Given the description of an element on the screen output the (x, y) to click on. 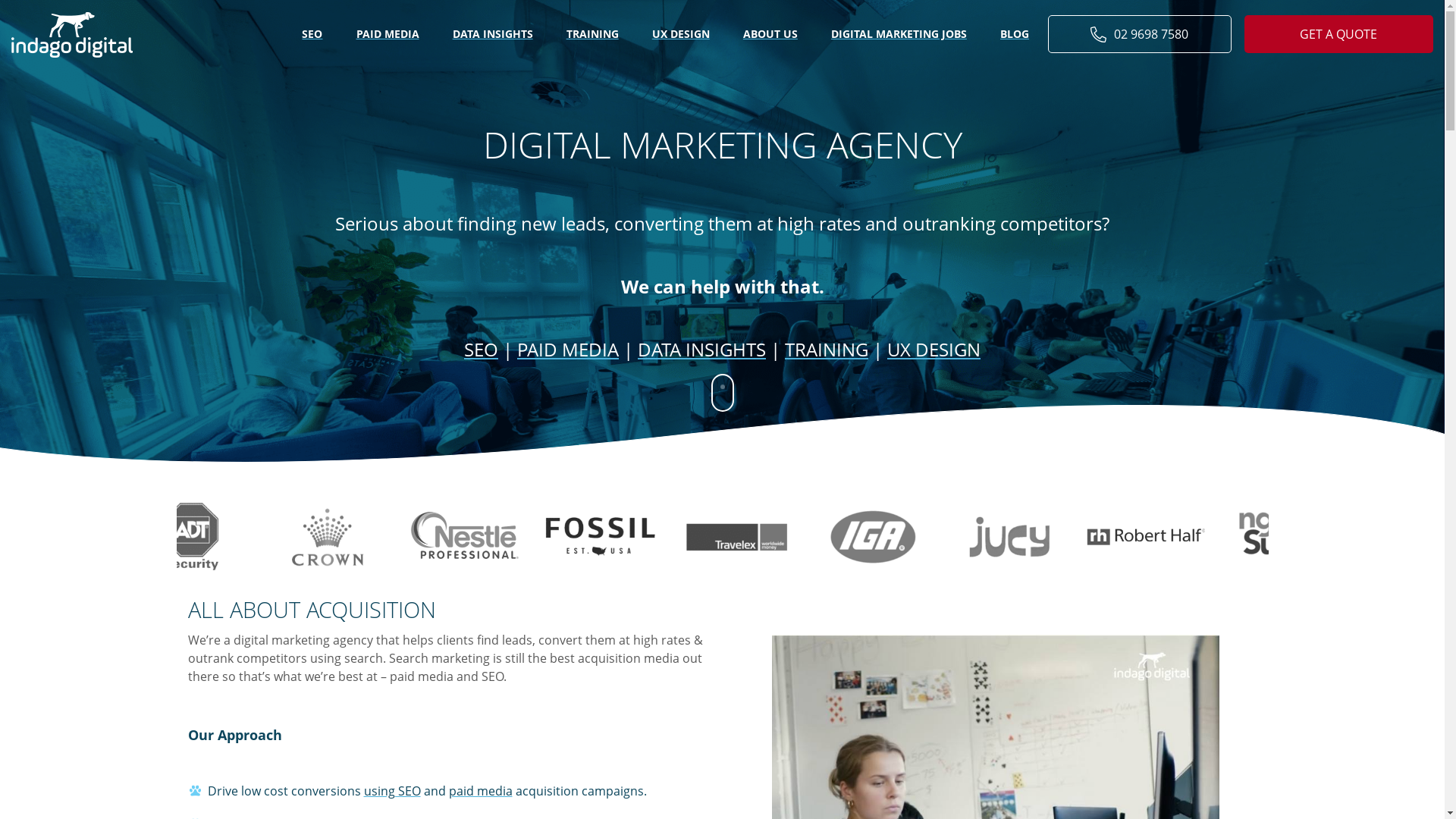
PAID MEDIA Element type: text (567, 349)
UX DESIGN Element type: text (680, 34)
BLOG Element type: text (1014, 34)
UX DESIGN Element type: text (933, 349)
SEO Element type: text (481, 349)
SEO Element type: text (311, 34)
DATA INSIGHTS Element type: text (701, 349)
TRAINING Element type: text (826, 349)
GET A QUOTE Element type: text (1338, 34)
02 9698 7580 Element type: text (1139, 34)
using SEO Element type: text (392, 790)
DATA INSIGHTS Element type: text (492, 34)
DIGITAL MARKETING JOBS Element type: text (898, 34)
ABOUT US Element type: text (770, 34)
PAID MEDIA Element type: text (387, 34)
paid media Element type: text (480, 790)
TRAINING Element type: text (592, 34)
